Given the description of an element on the screen output the (x, y) to click on. 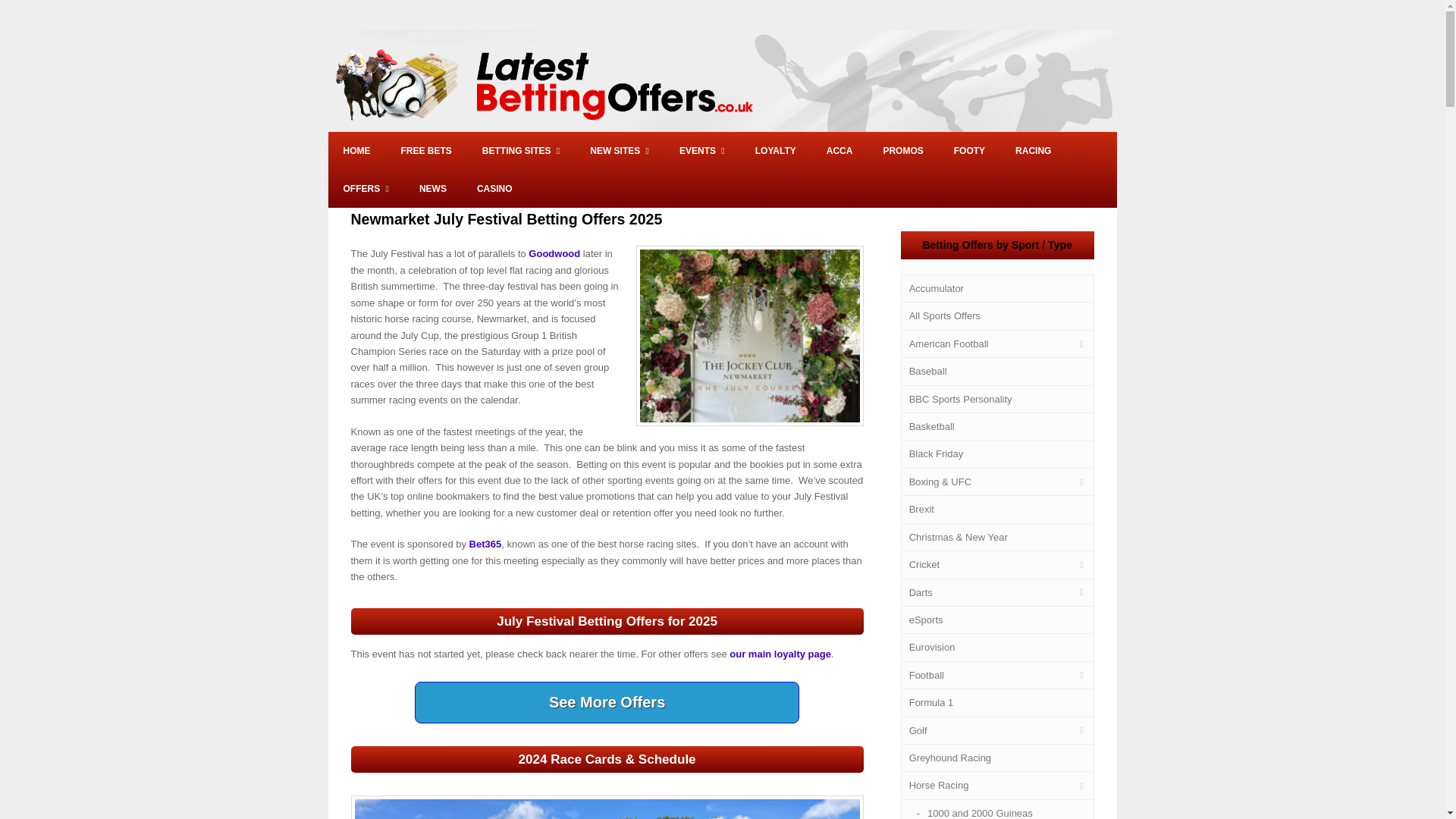
BETTING SITES (521, 150)
NEW SITES (619, 150)
HOME (356, 150)
FREE BETS (425, 150)
